Given the description of an element on the screen output the (x, y) to click on. 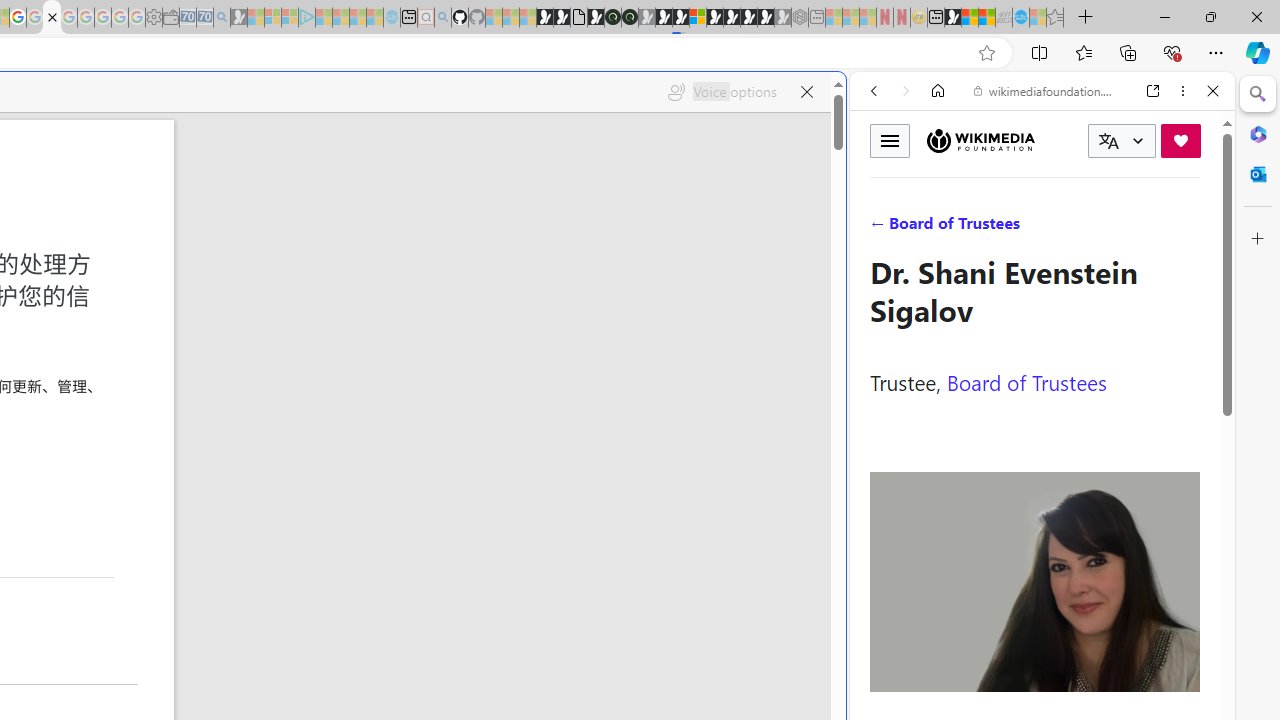
Split screen (1039, 52)
Close split screen (844, 102)
Close tab (52, 16)
VIDEOS (1006, 228)
Wiktionary (1034, 669)
Play Cave FRVR in your browser | Games from Microsoft Start (663, 17)
Web scope (882, 180)
Class: i icon icon-translate language-switcher__icon (1108, 141)
Class: b_serphb (1190, 229)
Favorites - Sleeping (1055, 17)
